Given the description of an element on the screen output the (x, y) to click on. 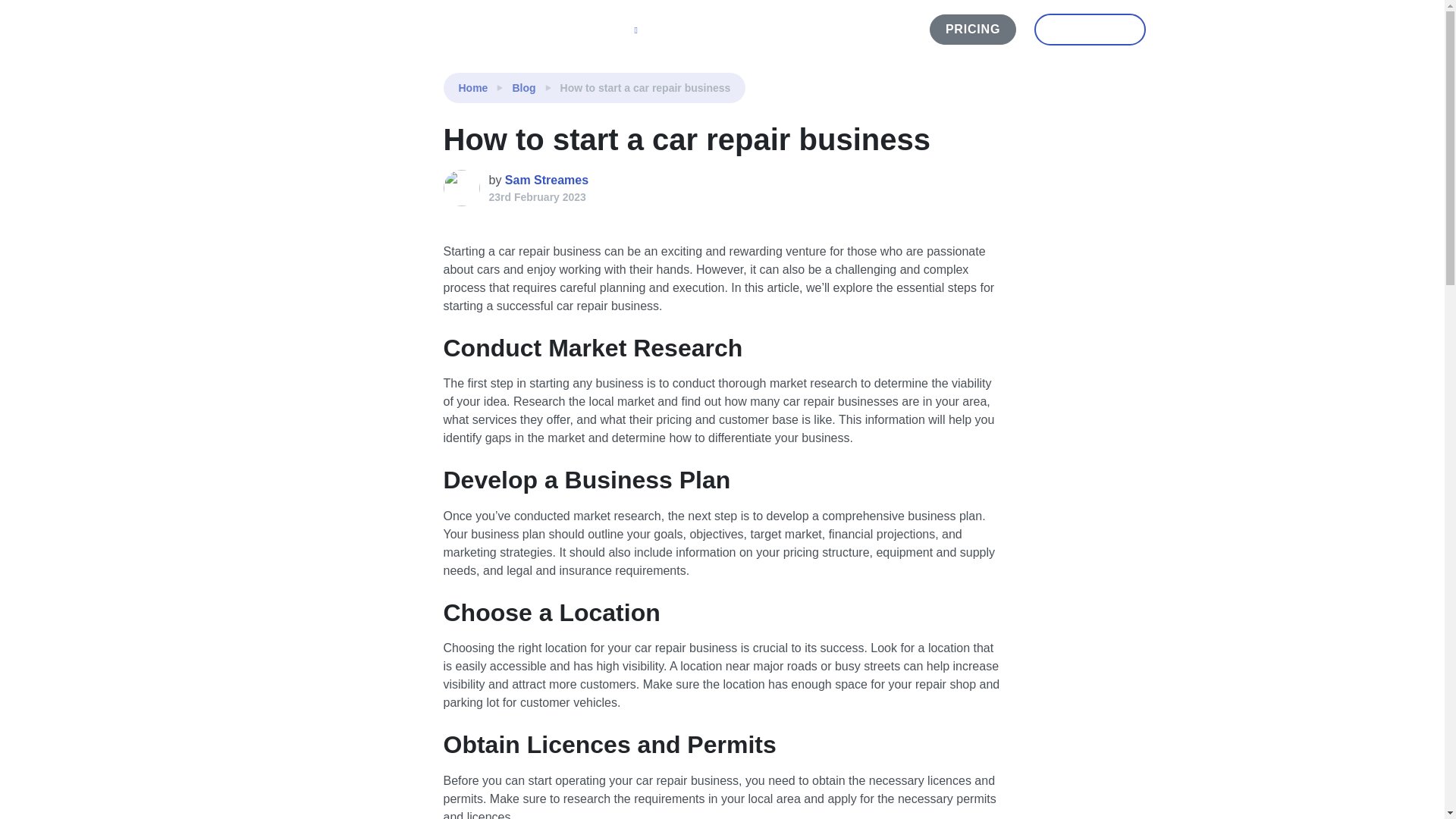
Testimonials (692, 29)
Home (472, 88)
Support (770, 29)
PRICING (973, 29)
Blog (523, 88)
Sam Streames (546, 179)
Testimonials (692, 29)
FREE DEMO (1088, 29)
Contact (834, 29)
Support (770, 29)
